Given the description of an element on the screen output the (x, y) to click on. 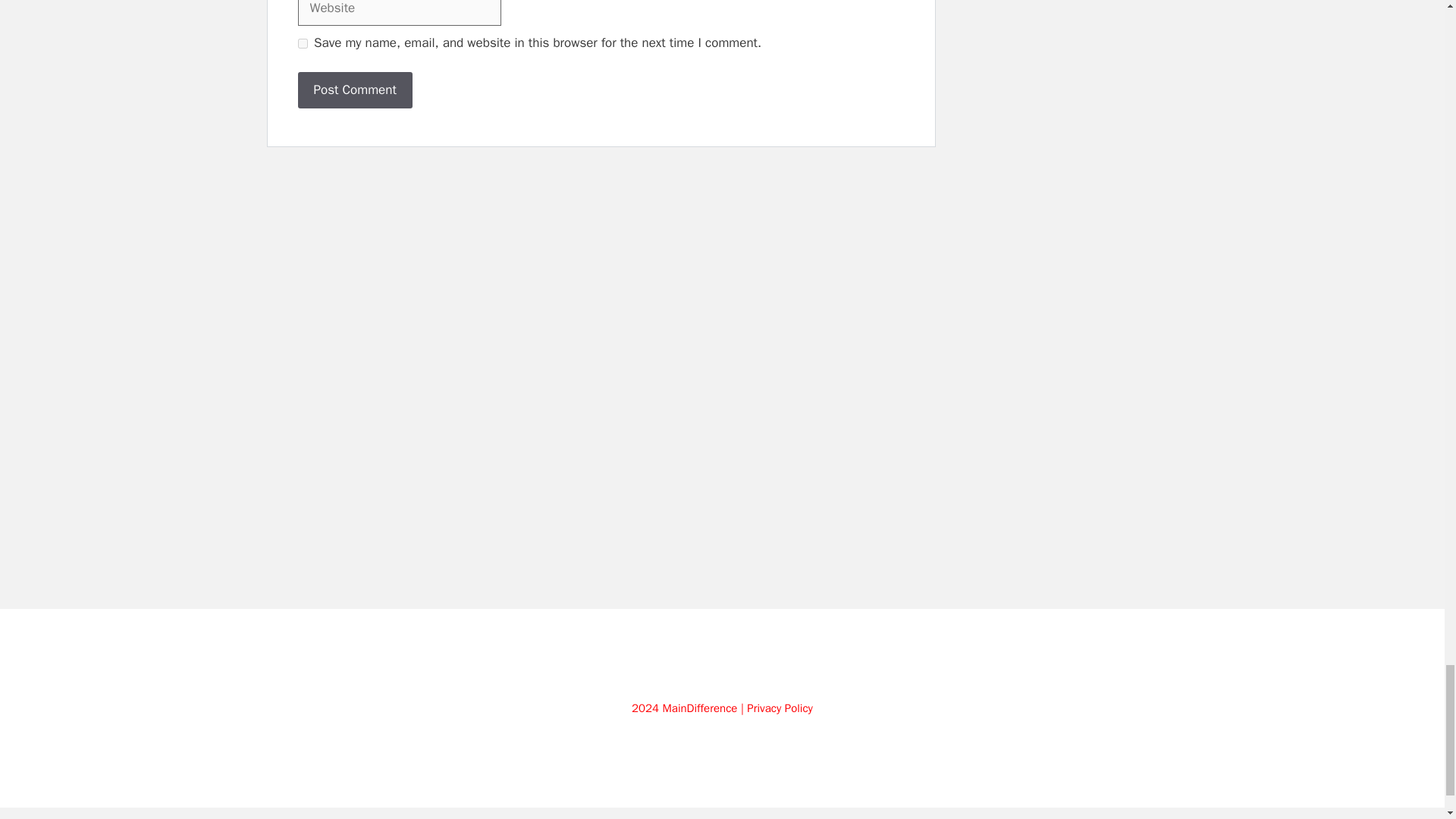
Privacy Policy (779, 707)
Post Comment (354, 90)
Post Comment (354, 90)
yes (302, 43)
